Given the description of an element on the screen output the (x, y) to click on. 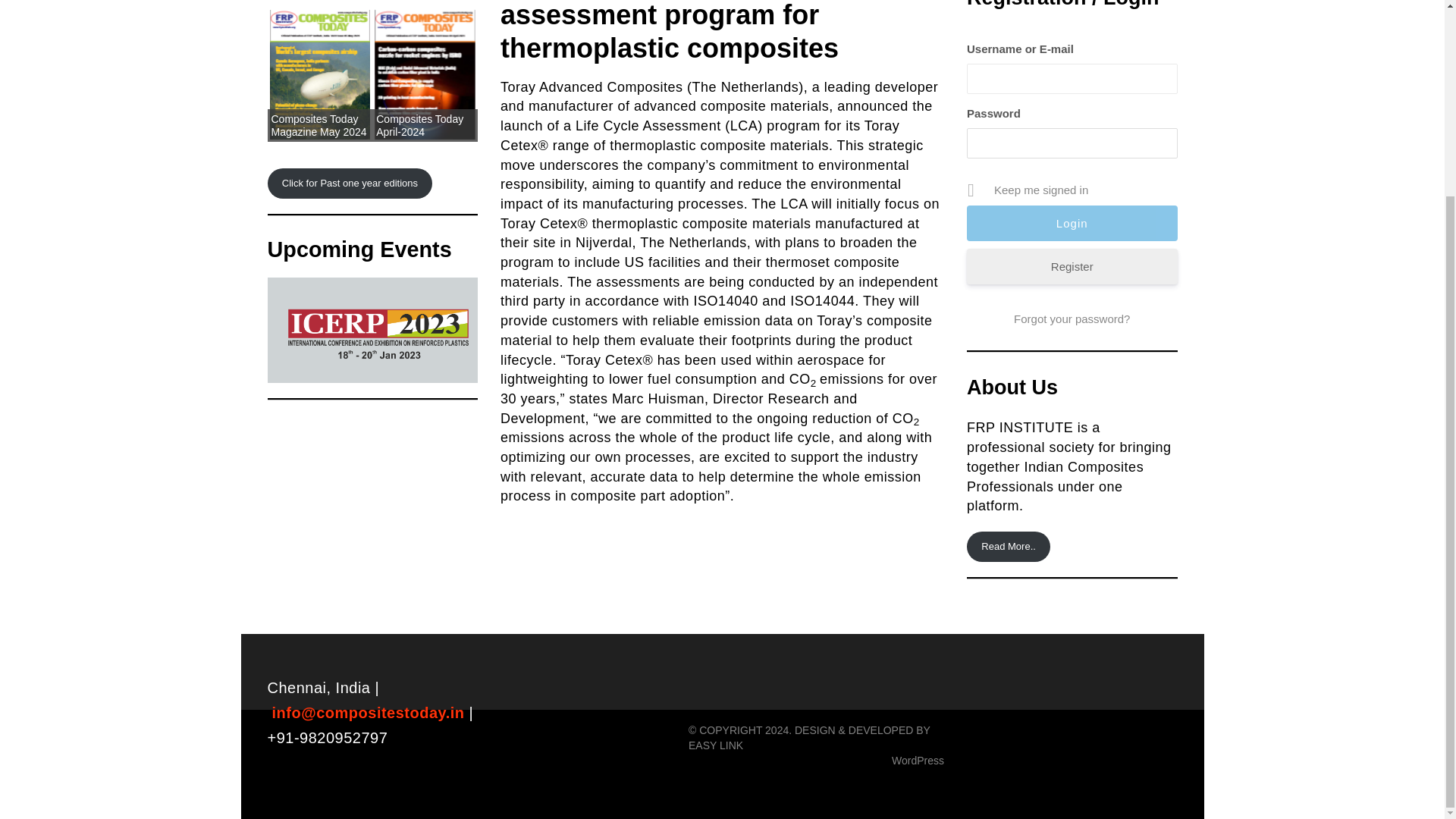
Composites Today Magazine May 2024 (318, 125)
Login (1071, 222)
Read More.. (1007, 546)
Register (1071, 266)
Click for Past one year editions (349, 183)
Forgot your password? (1071, 319)
WordPress (917, 760)
Composites Today April-2024 (419, 125)
Login (1071, 222)
